Given the description of an element on the screen output the (x, y) to click on. 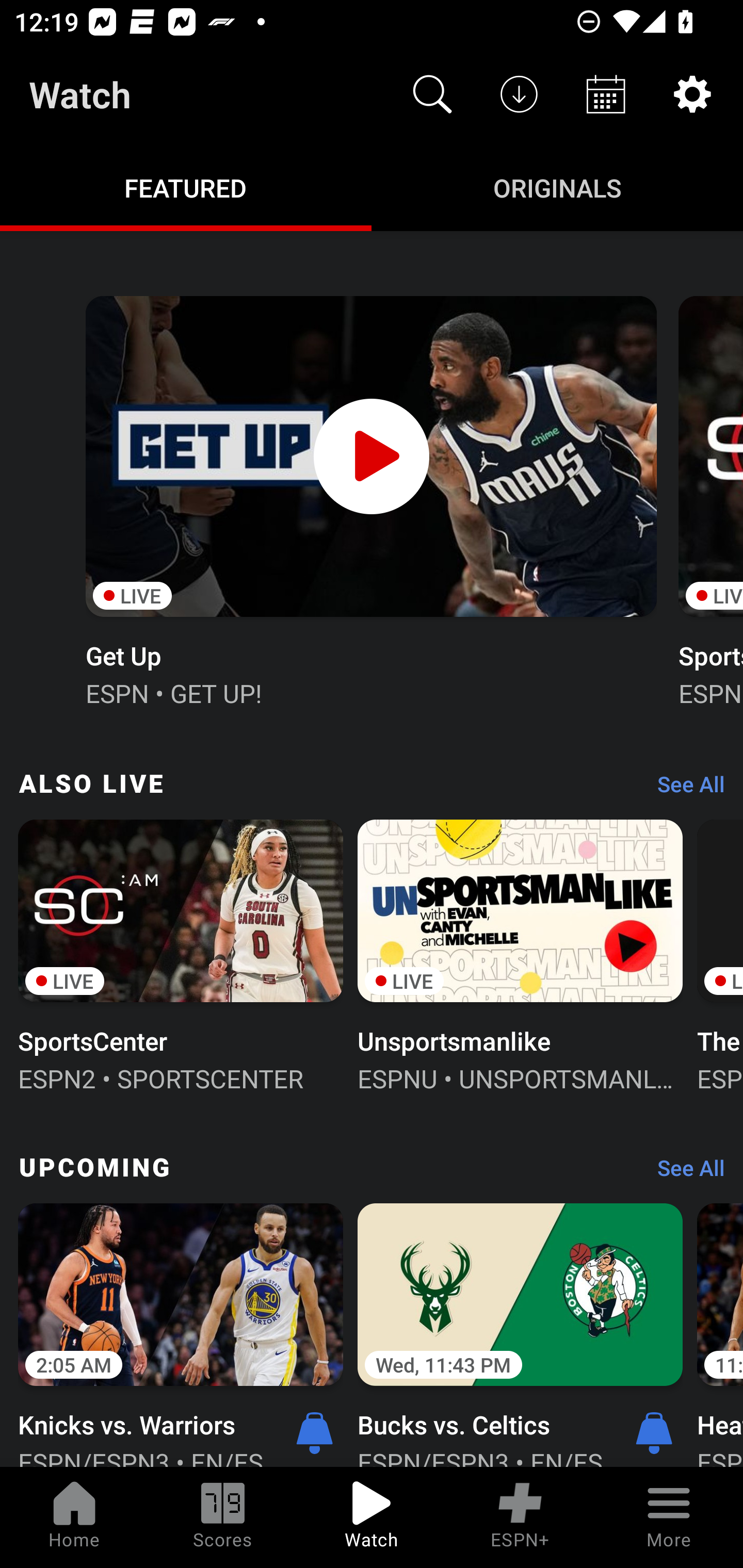
Search (432, 93)
Downloads (518, 93)
Schedule (605, 93)
Settings (692, 93)
Originals ORIGINALS (557, 187)
 LIVE Get Up ESPN • GET UP! (370, 499)
See All (683, 788)
LIVE SportsCenter ESPN2 • SPORTSCENTER (180, 954)
See All (683, 1172)
Home (74, 1517)
Scores (222, 1517)
ESPN+ (519, 1517)
More (668, 1517)
